Given the description of an element on the screen output the (x, y) to click on. 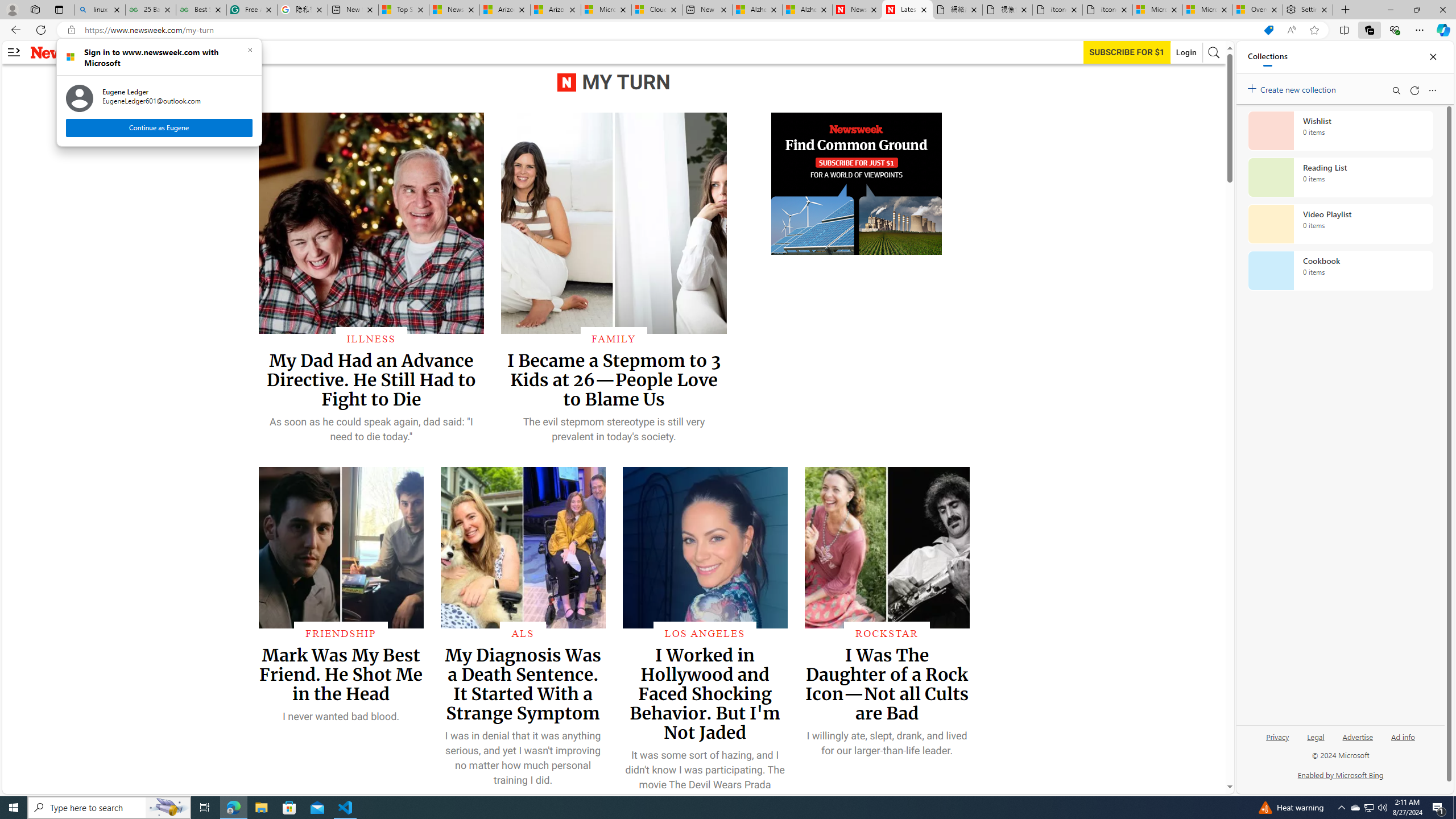
FRIENDSHIP (1355, 807)
Visual Studio Code - 1 running window (341, 633)
AutomationID: aw0 (345, 807)
Privacy (856, 184)
Microsoft Edge - 1 running window (1277, 741)
Newsweek - News, Analysis, Politics, Business, Technology (233, 807)
Type here to search (856, 9)
New tab (108, 807)
News - MSN (706, 9)
Mark Was My Best Friend. He Shot Me in the Head (453, 9)
Advertise (340, 673)
File Explorer (1357, 736)
